Given the description of an element on the screen output the (x, y) to click on. 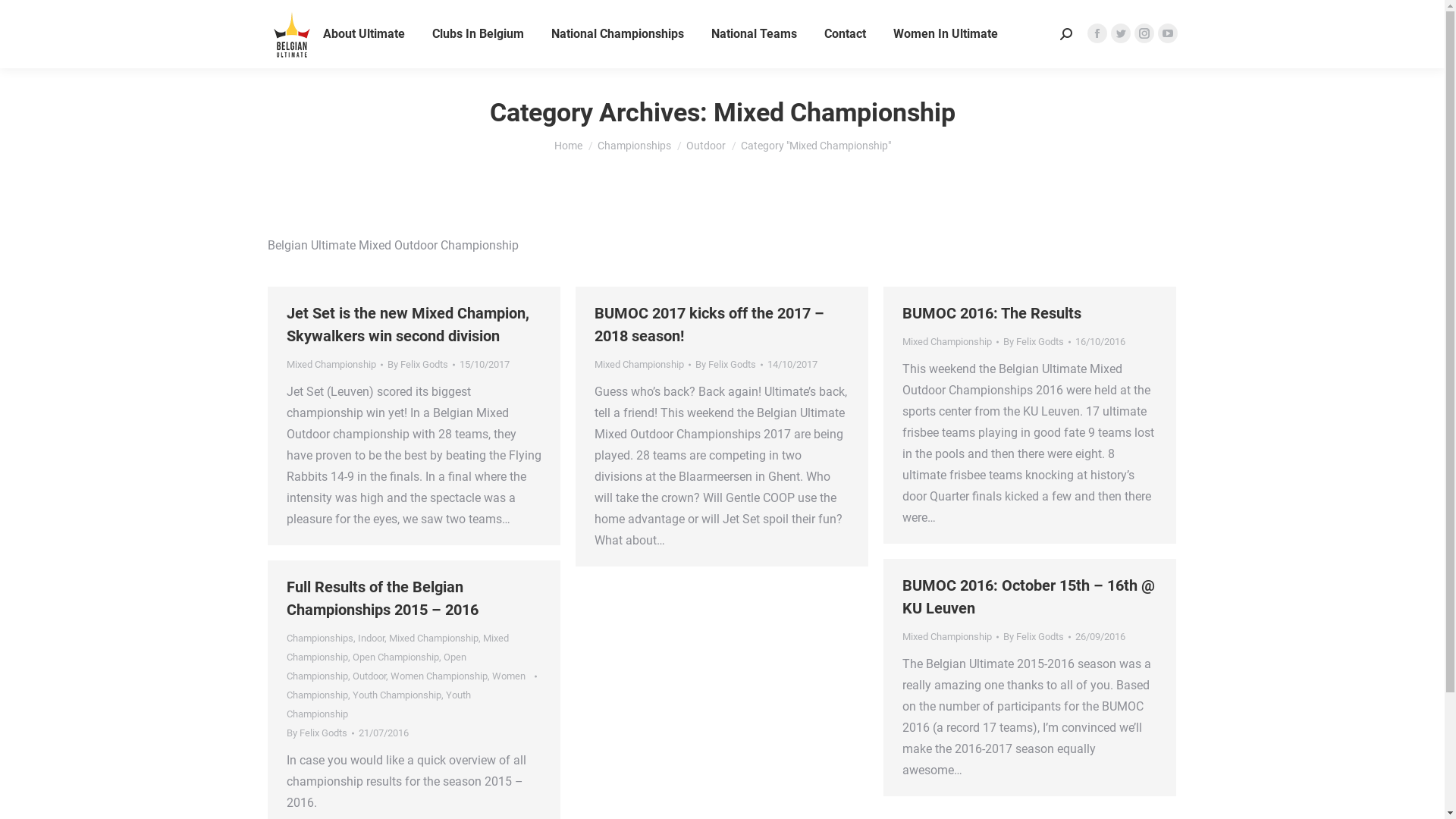
Mixed Championship Element type: text (331, 364)
Open Championship Element type: text (376, 666)
National Championships Element type: text (616, 33)
Championships Element type: text (634, 145)
Indoor Element type: text (370, 637)
Women Championship Element type: text (405, 685)
Mixed Championship Element type: text (432, 637)
By Felix Godts Element type: text (728, 363)
14/10/2017 Element type: text (792, 363)
Mixed Championship Element type: text (946, 636)
By Felix Godts Element type: text (1036, 636)
By Felix Godts Element type: text (320, 732)
National Teams Element type: text (754, 33)
BUMOC 2016: The Results Element type: text (991, 313)
Mixed Championship Element type: text (946, 341)
Home Element type: text (567, 145)
16/10/2016 Element type: text (1100, 341)
Twitter page opens in new window Element type: text (1119, 32)
Facebook page opens in new window Element type: text (1097, 32)
By Felix Godts Element type: text (1036, 341)
Contact Element type: text (844, 33)
YouTube page opens in new window Element type: text (1166, 32)
Outdoor Element type: text (368, 675)
Youth Championship Element type: text (378, 704)
About Ultimate Element type: text (363, 33)
15/10/2017 Element type: text (484, 363)
Women In Ultimate Element type: text (945, 33)
Championships Element type: text (319, 637)
26/09/2016 Element type: text (1100, 636)
21/07/2016 Element type: text (382, 732)
Outdoor Element type: text (704, 145)
By Felix Godts Element type: text (420, 363)
Women Championship Element type: text (437, 675)
Mixed Championship Element type: text (639, 364)
Clubs In Belgium Element type: text (478, 33)
Mixed Championship Element type: text (397, 647)
Go! Element type: text (23, 16)
Open Championship Element type: text (394, 656)
Instagram page opens in new window Element type: text (1144, 32)
Youth Championship Element type: text (395, 694)
